Given the description of an element on the screen output the (x, y) to click on. 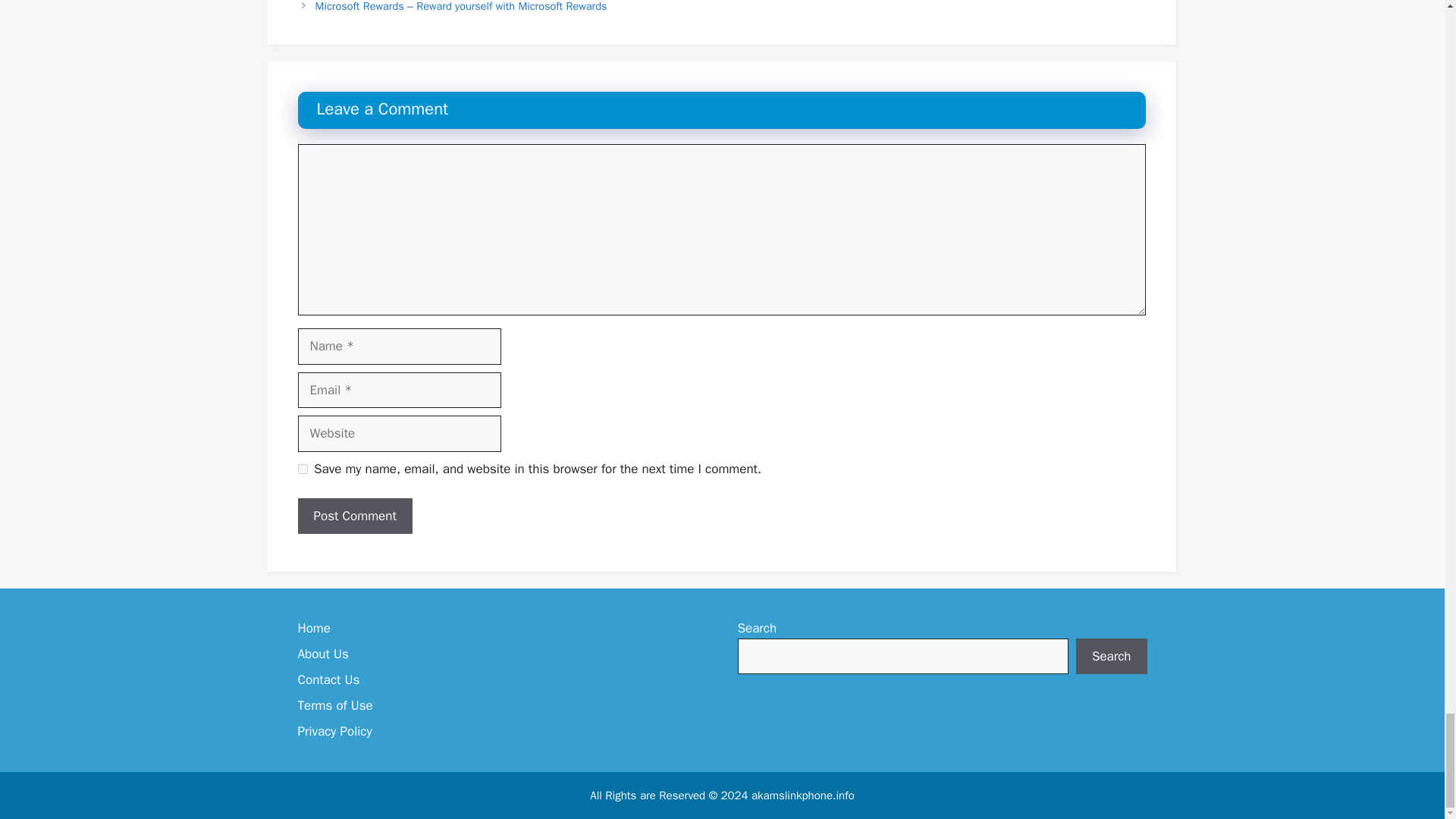
Home (313, 627)
yes (302, 469)
Contact Us (328, 679)
Post Comment (354, 515)
About Us (322, 653)
Search (1111, 656)
akamslinkphone.info (802, 795)
Privacy Policy (334, 731)
Terms of Use (334, 705)
Post Comment (354, 515)
